Given the description of an element on the screen output the (x, y) to click on. 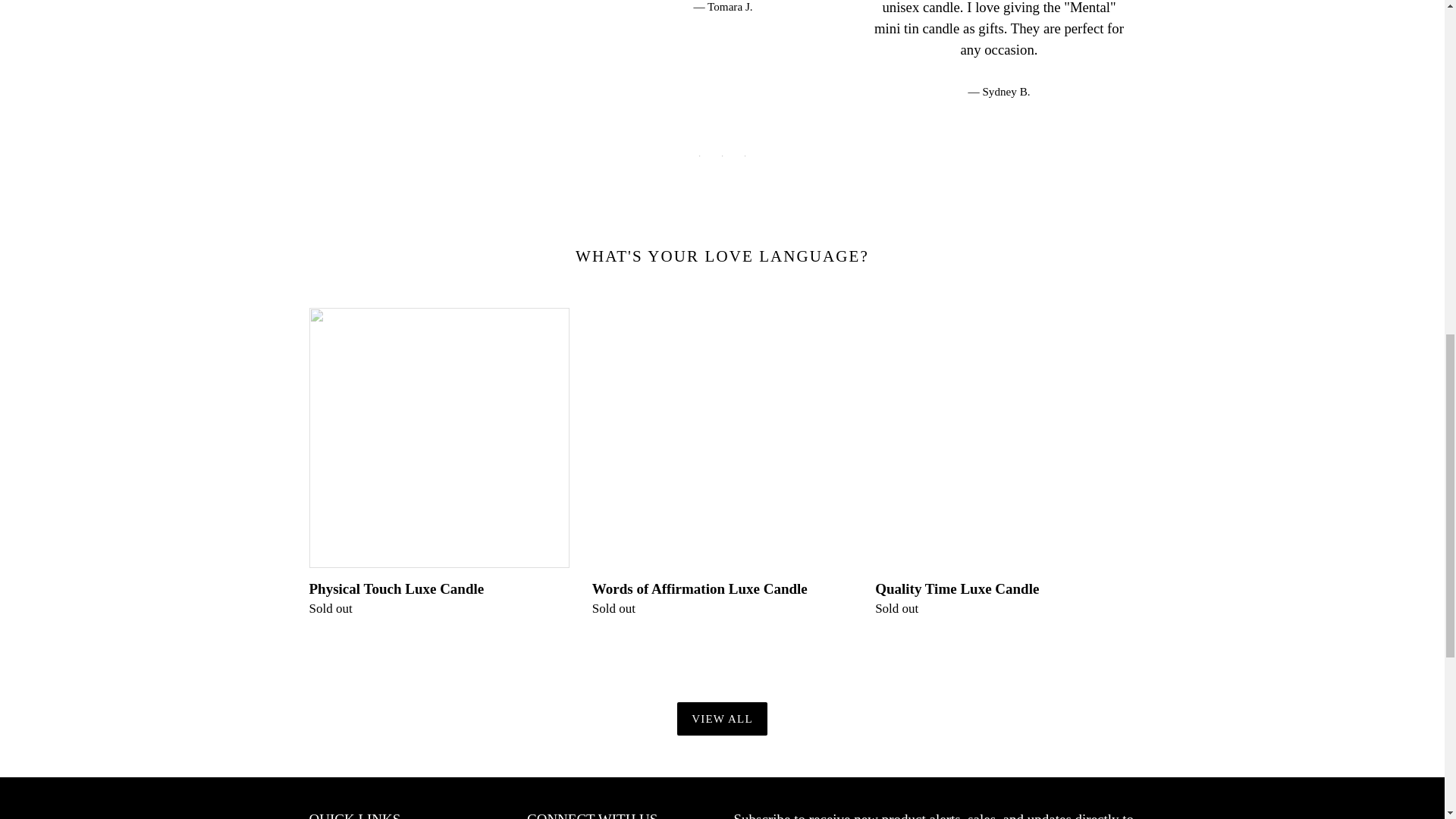
Slide 2 (721, 155)
VIEW ALL (722, 718)
Slide 3 (744, 155)
Slide 1 (698, 155)
